Given the description of an element on the screen output the (x, y) to click on. 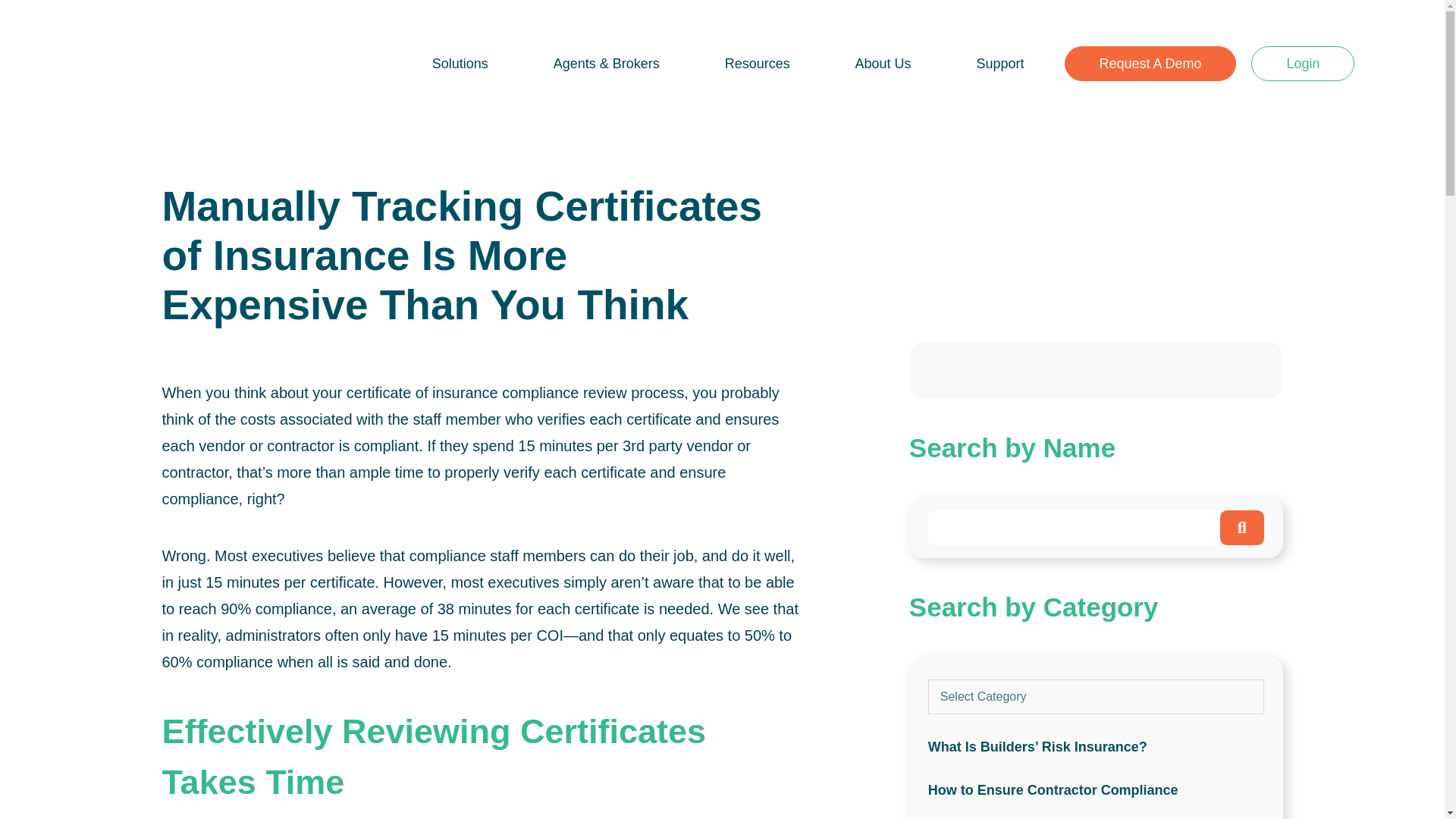
Solutions (460, 62)
Resources (757, 62)
myCOI (183, 64)
Support (1000, 62)
Login (1302, 63)
Request A Demo (1150, 63)
About Us (882, 62)
How to Ensure Contractor Compliance (1095, 790)
